Given the description of an element on the screen output the (x, y) to click on. 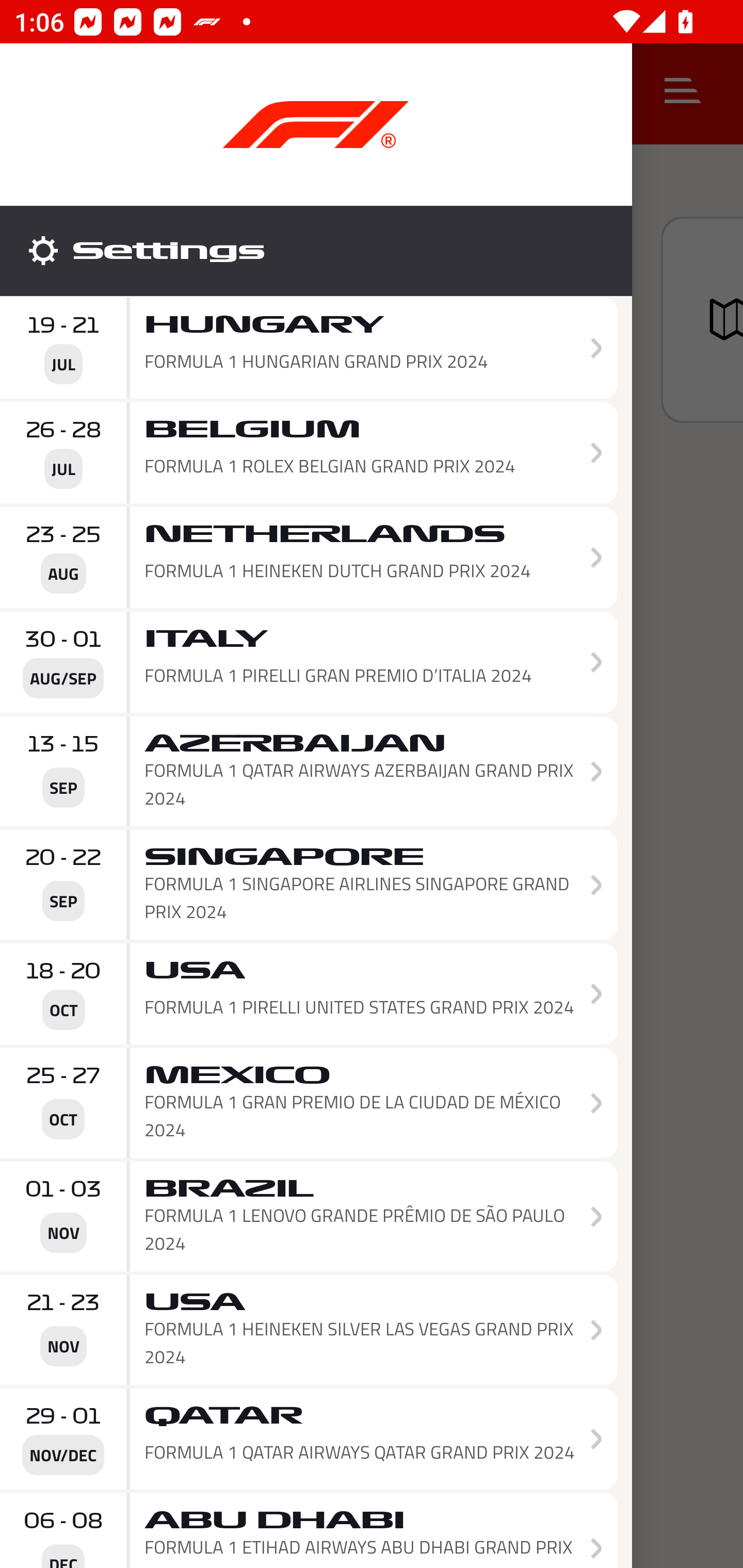
Settings (316, 250)
